Given the description of an element on the screen output the (x, y) to click on. 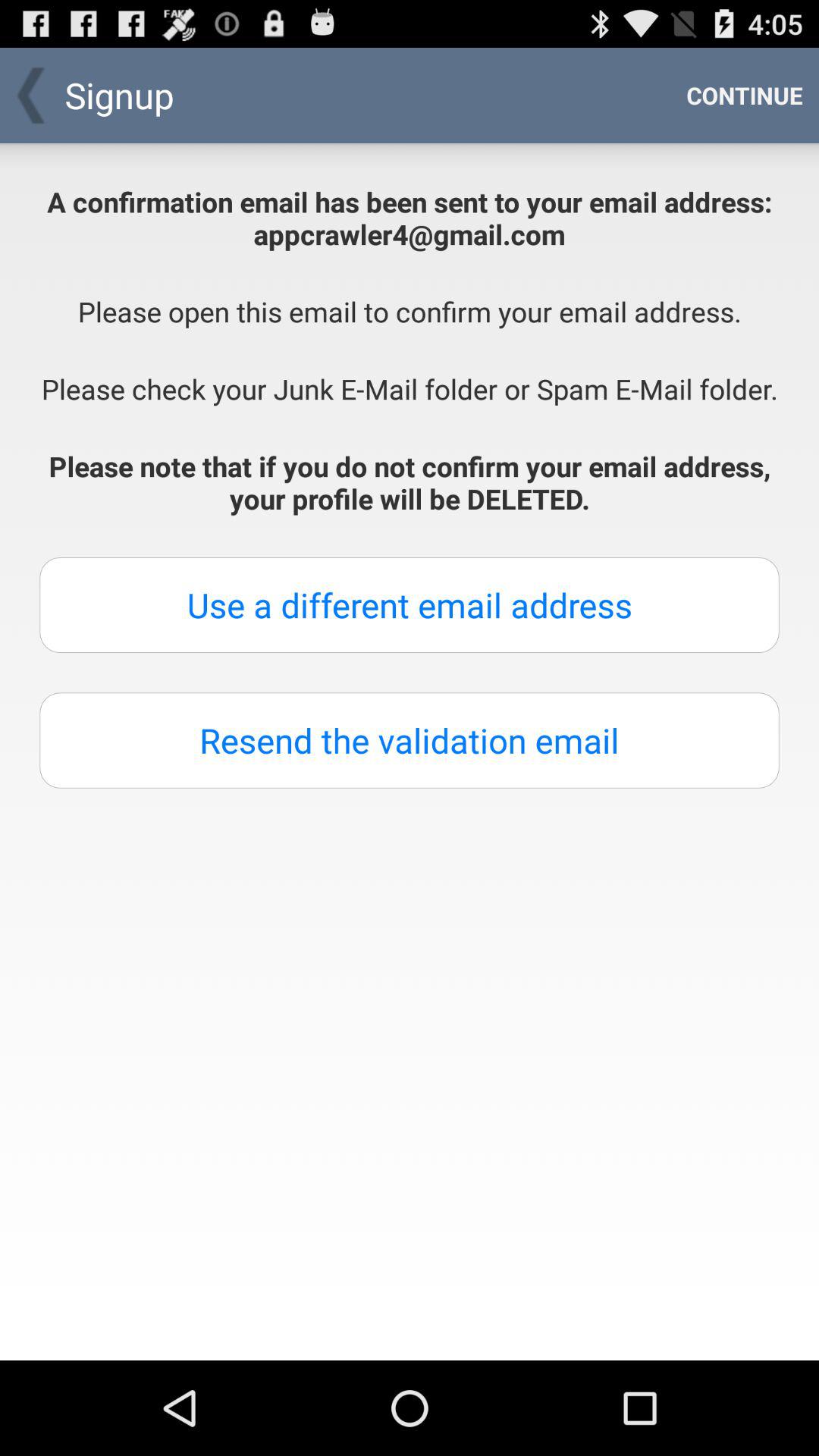
flip until the resend the validation icon (409, 740)
